Given the description of an element on the screen output the (x, y) to click on. 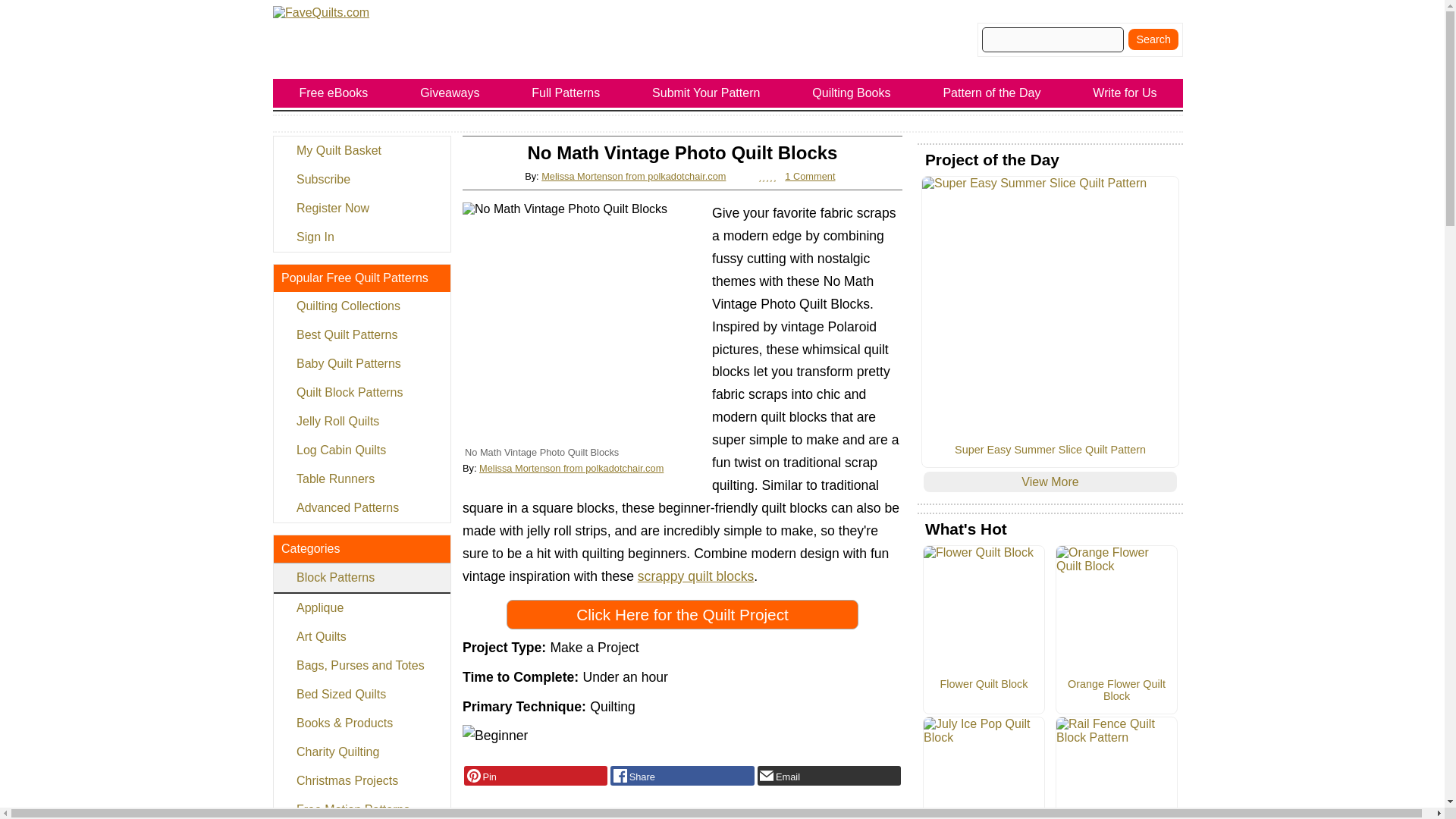
Email (829, 775)
Register Now (361, 208)
Subscribe (361, 179)
Facebook (682, 775)
Sign In (361, 236)
Scrap Quilt Patterns (695, 575)
Search (1152, 38)
No Math Vintage Photo Quilt Blocks (583, 323)
My Quilt Basket (361, 150)
